Given the description of an element on the screen output the (x, y) to click on. 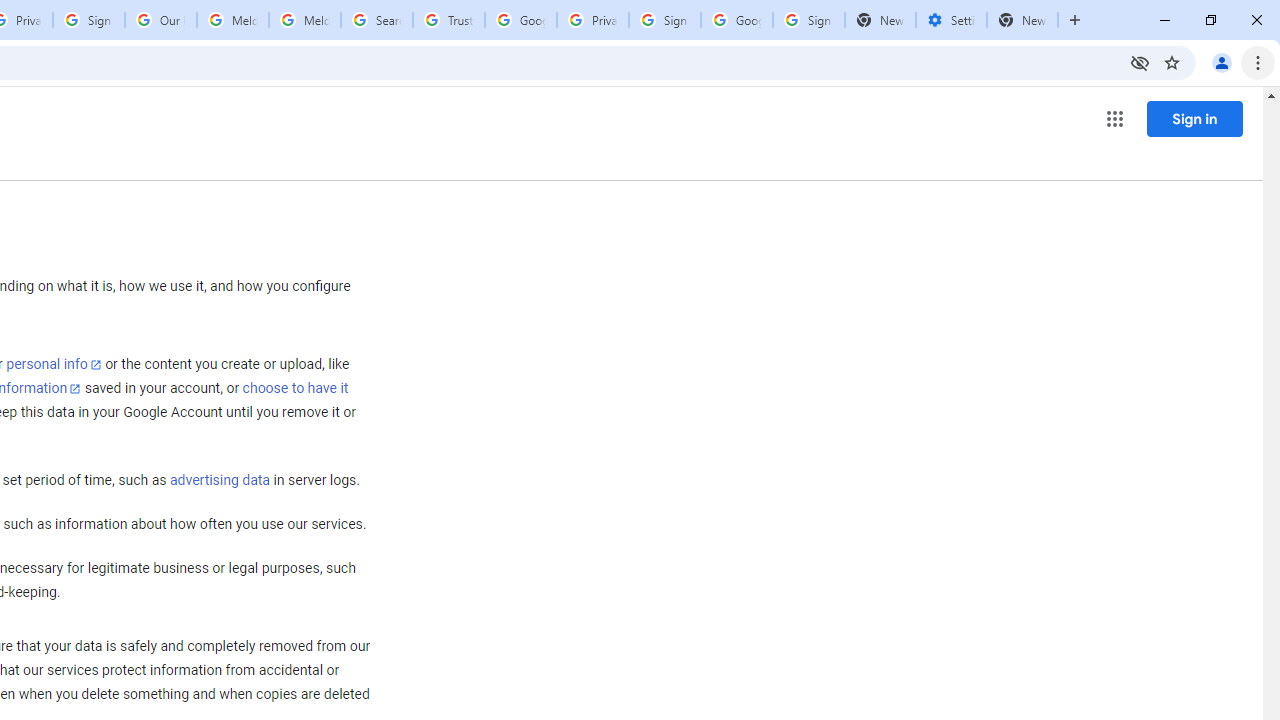
Search our Doodle Library Collection - Google Doodles (376, 20)
Google Ads - Sign in (520, 20)
New Tab (1022, 20)
Google Cybersecurity Innovations - Google Safety Center (737, 20)
Sign in - Google Accounts (808, 20)
personal info (54, 364)
Settings - Addresses and more (951, 20)
Sign in - Google Accounts (88, 20)
